Given the description of an element on the screen output the (x, y) to click on. 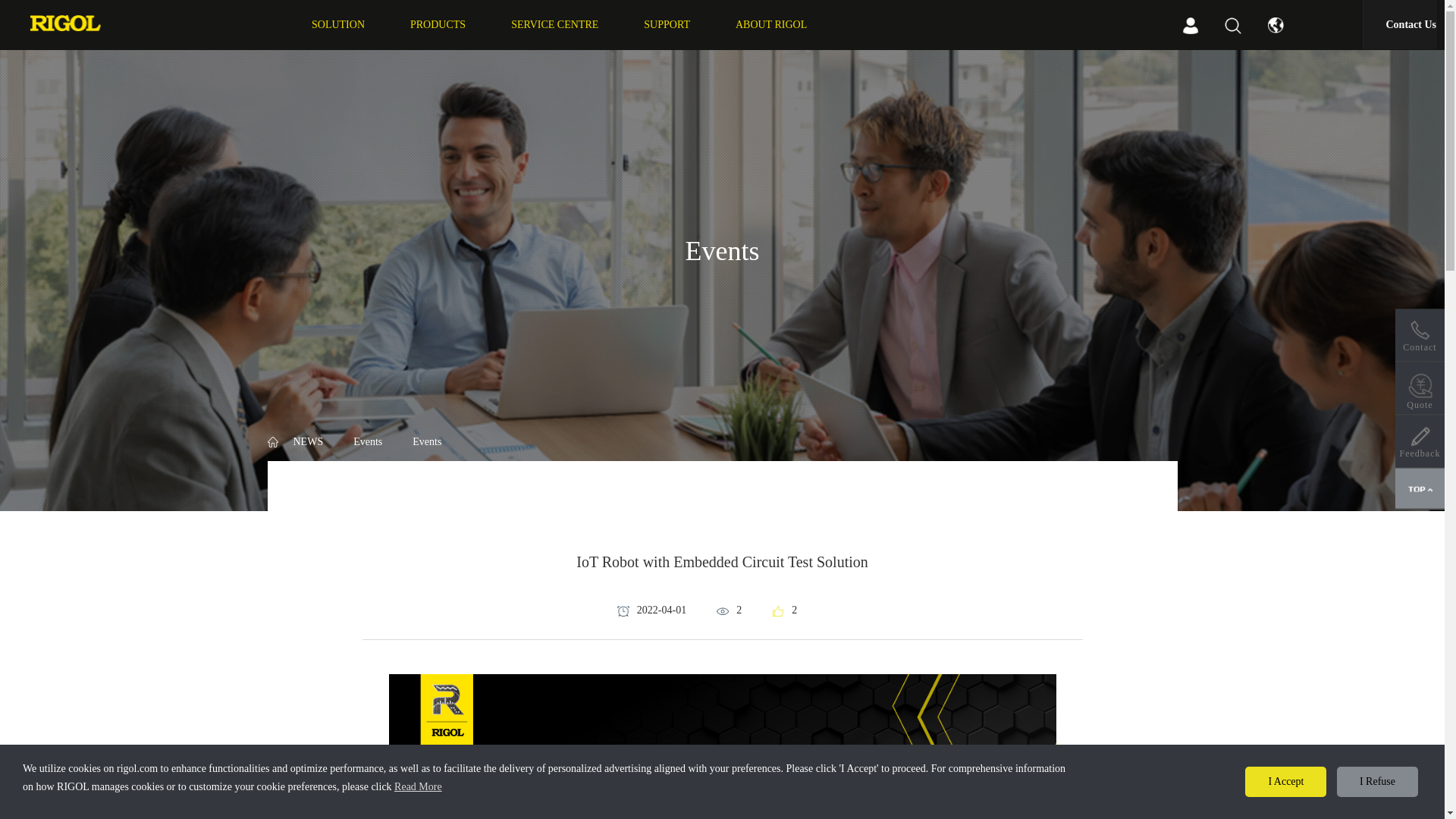
PRODUCTS (437, 24)
SOLUTION (338, 24)
